Given the description of an element on the screen output the (x, y) to click on. 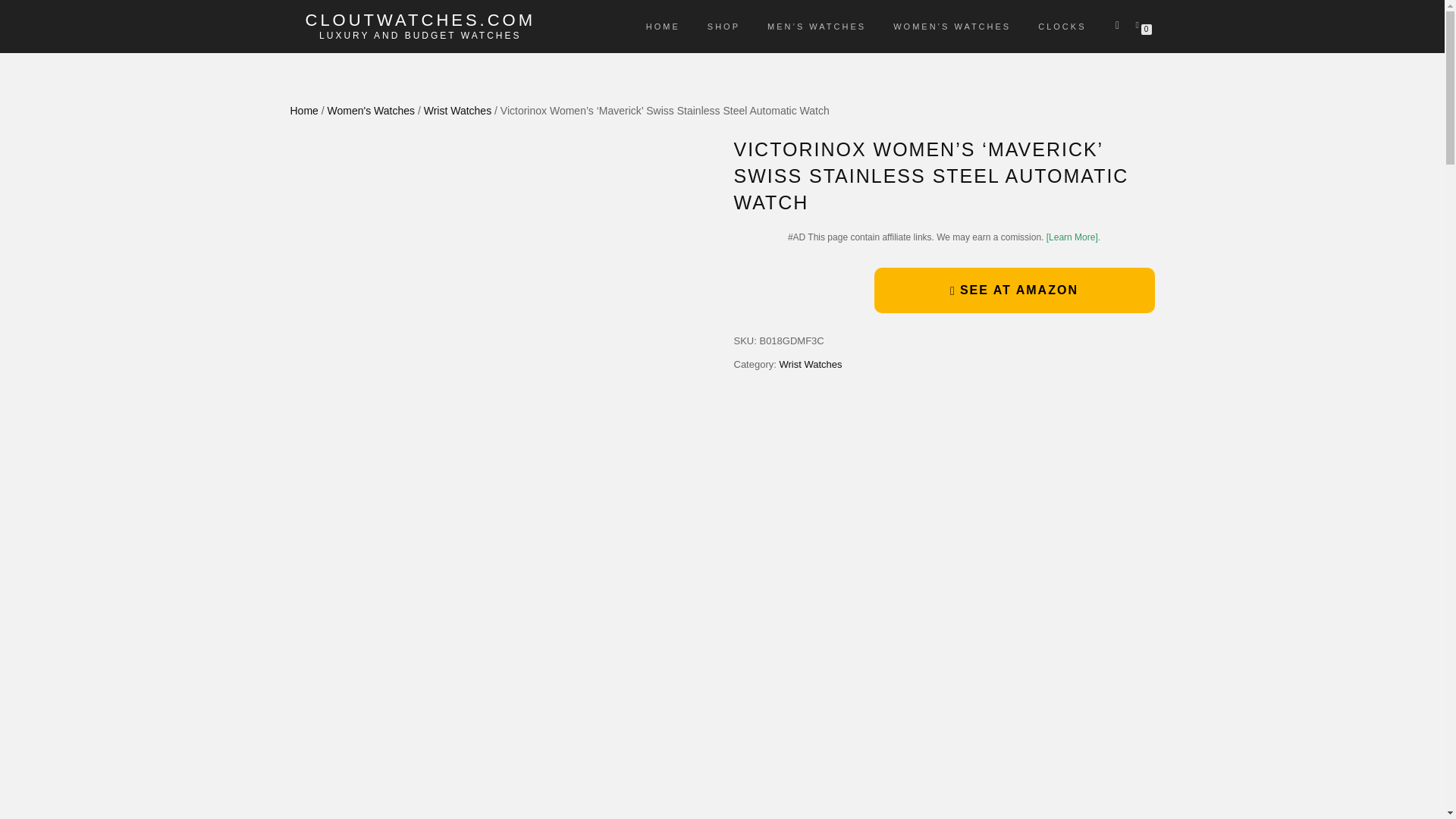
0 (1139, 23)
Home (303, 110)
HOME (662, 26)
Women's Watches (370, 110)
LUXURY AND BUDGET WATCHES (419, 35)
CLOUTWATCHES.COM (419, 20)
SEE AT AMAZON (1013, 289)
SHOP (723, 26)
View your shopping cart (1139, 23)
CLOCKS (1061, 26)
CloutWatches.com (419, 20)
Wrist Watches (457, 110)
Luxury and Budget Watches (419, 35)
Wrist Watches (809, 364)
